Given the description of an element on the screen output the (x, y) to click on. 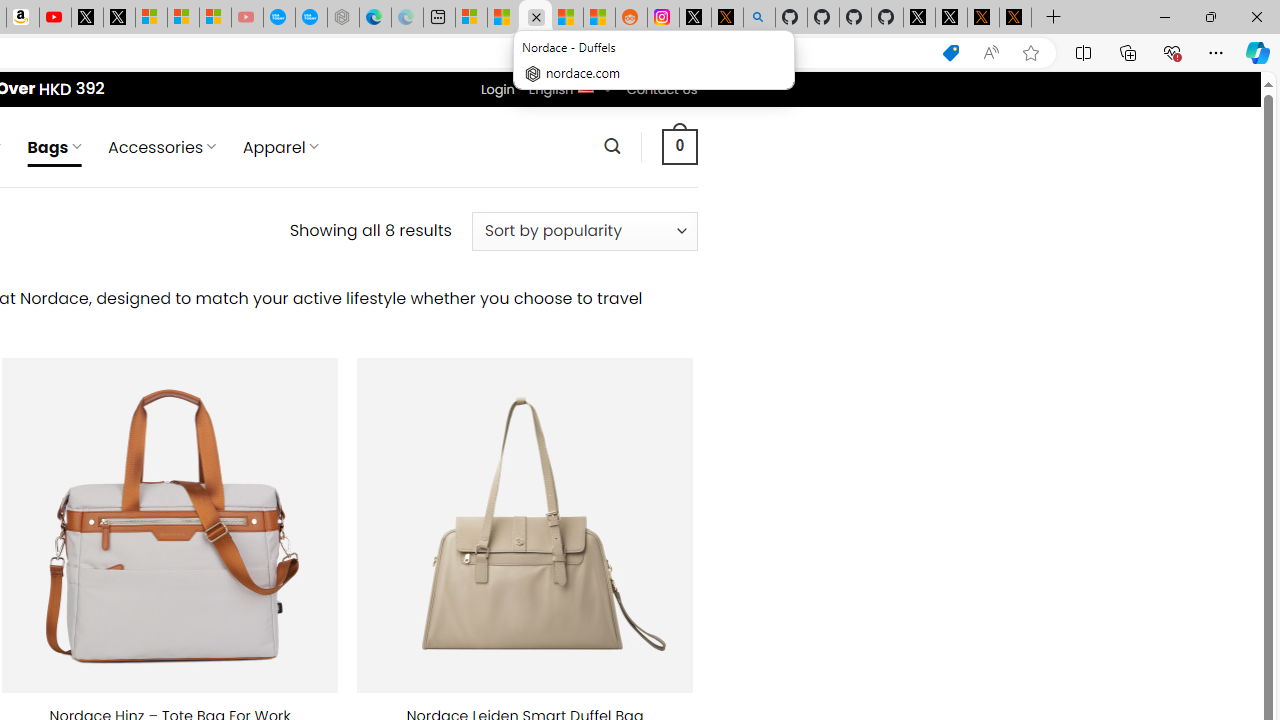
English (586, 86)
Opinion: Op-Ed and Commentary - USA TODAY (279, 17)
Shop order (584, 231)
